Given the description of an element on the screen output the (x, y) to click on. 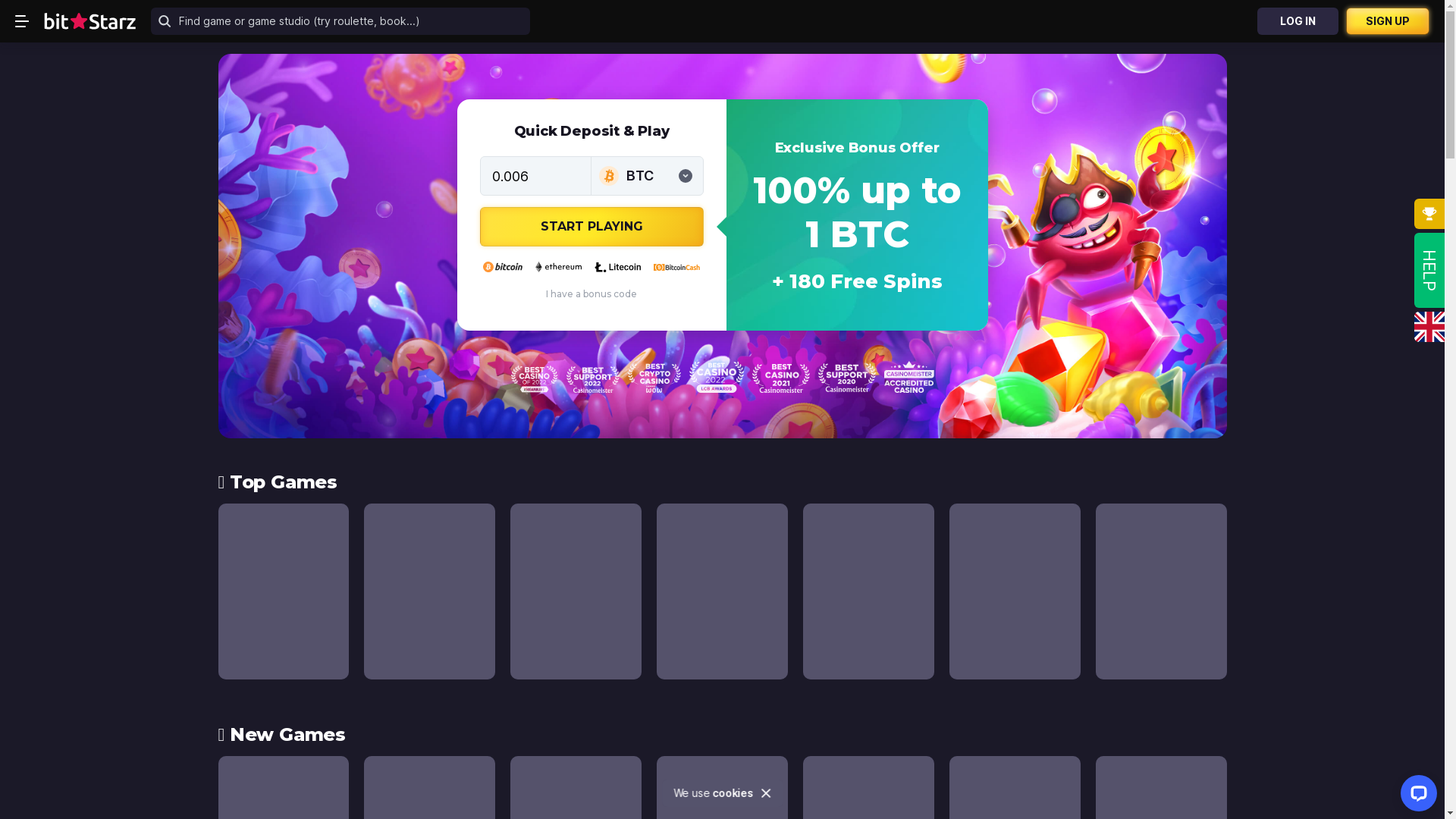
LOG IN Element type: text (1297, 20)
START PLAYING Element type: text (590, 226)
English Element type: hover (1429, 326)
SIGN UP Element type: text (1387, 20)
cookies Element type: text (732, 792)
I have a bonus code Element type: text (591, 294)
